Given the description of an element on the screen output the (x, y) to click on. 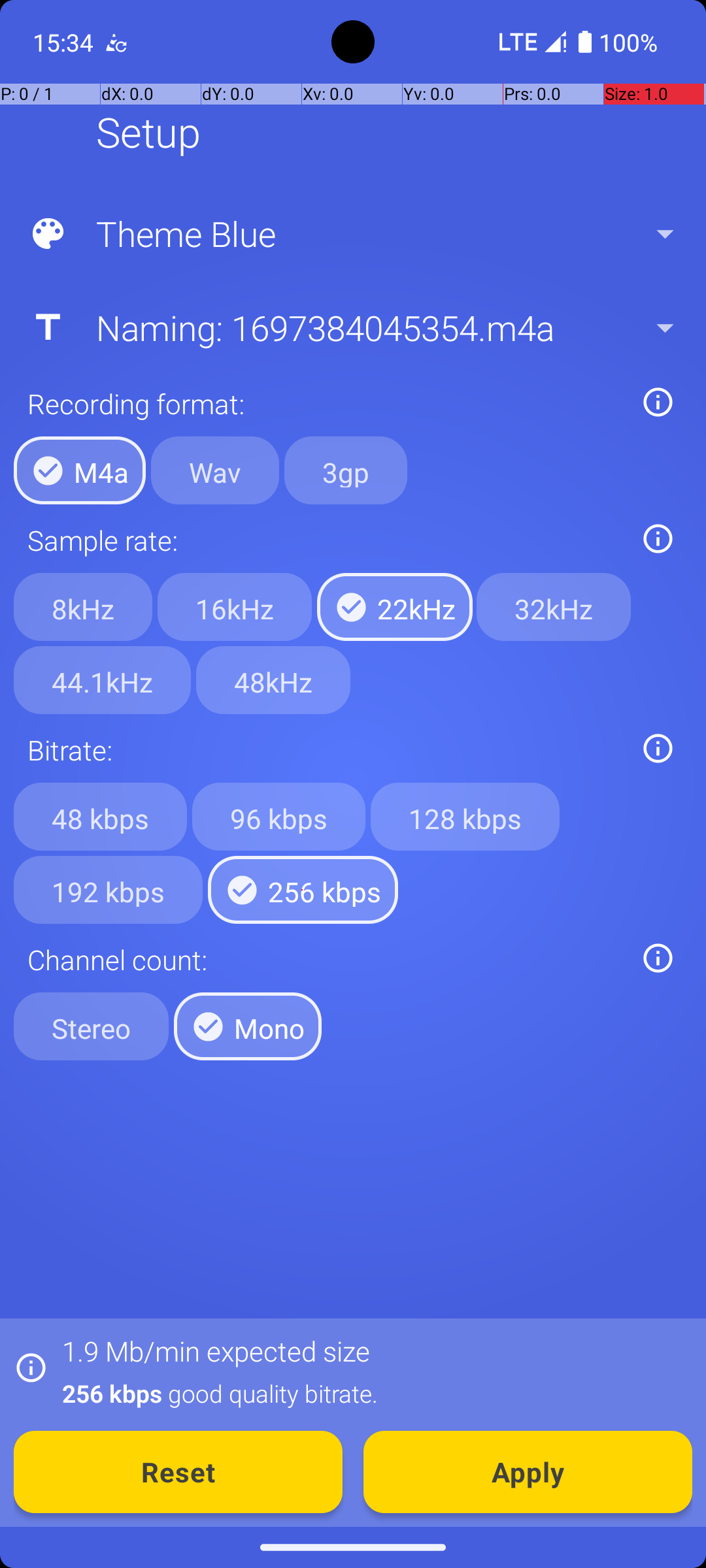
1.9 Mb/min expected size Element type: android.widget.TextView (215, 1350)
256 kbps good quality bitrate. Element type: android.widget.TextView (370, 1392)
Naming: 1697384045354.m4a Element type: android.widget.TextView (352, 327)
